Given the description of an element on the screen output the (x, y) to click on. 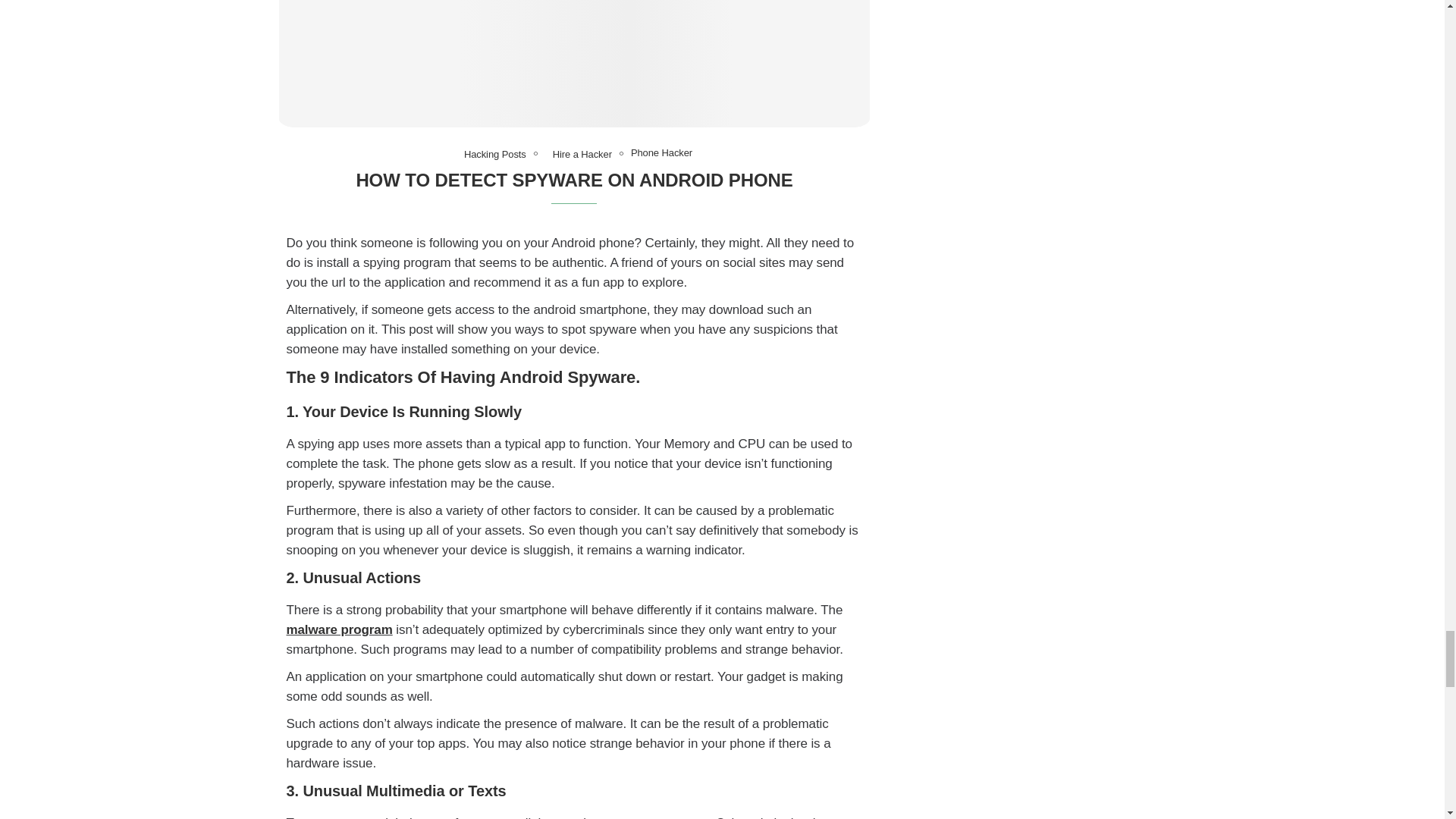
how to detect spyware on android phone (574, 63)
